Given the description of an element on the screen output the (x, y) to click on. 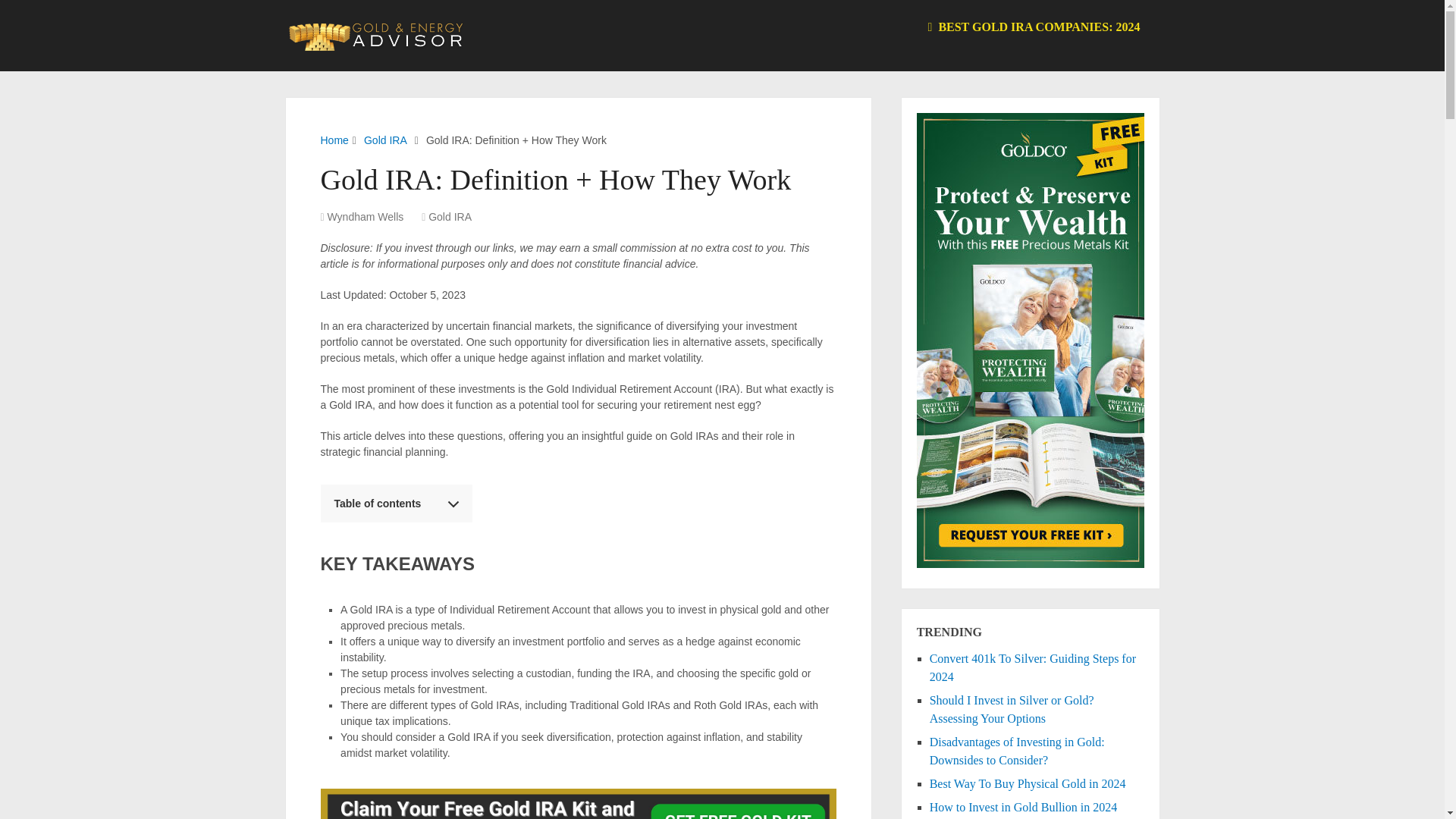
Best Way To Buy Physical Gold in 2024 (1027, 783)
Convert 401k To Silver: Guiding Steps for 2024 (1032, 667)
View all posts in Gold IRA (449, 216)
Posts by Wyndham Wells (365, 216)
Gold IRA (385, 140)
Disadvantages of Investing in Gold: Downsides to Consider? (1017, 750)
How to Invest in Gold Bullion in 2024 (1024, 807)
Home (333, 140)
BEST GOLD IRA COMPANIES: 2024 (1033, 27)
Wyndham Wells (365, 216)
